Given the description of an element on the screen output the (x, y) to click on. 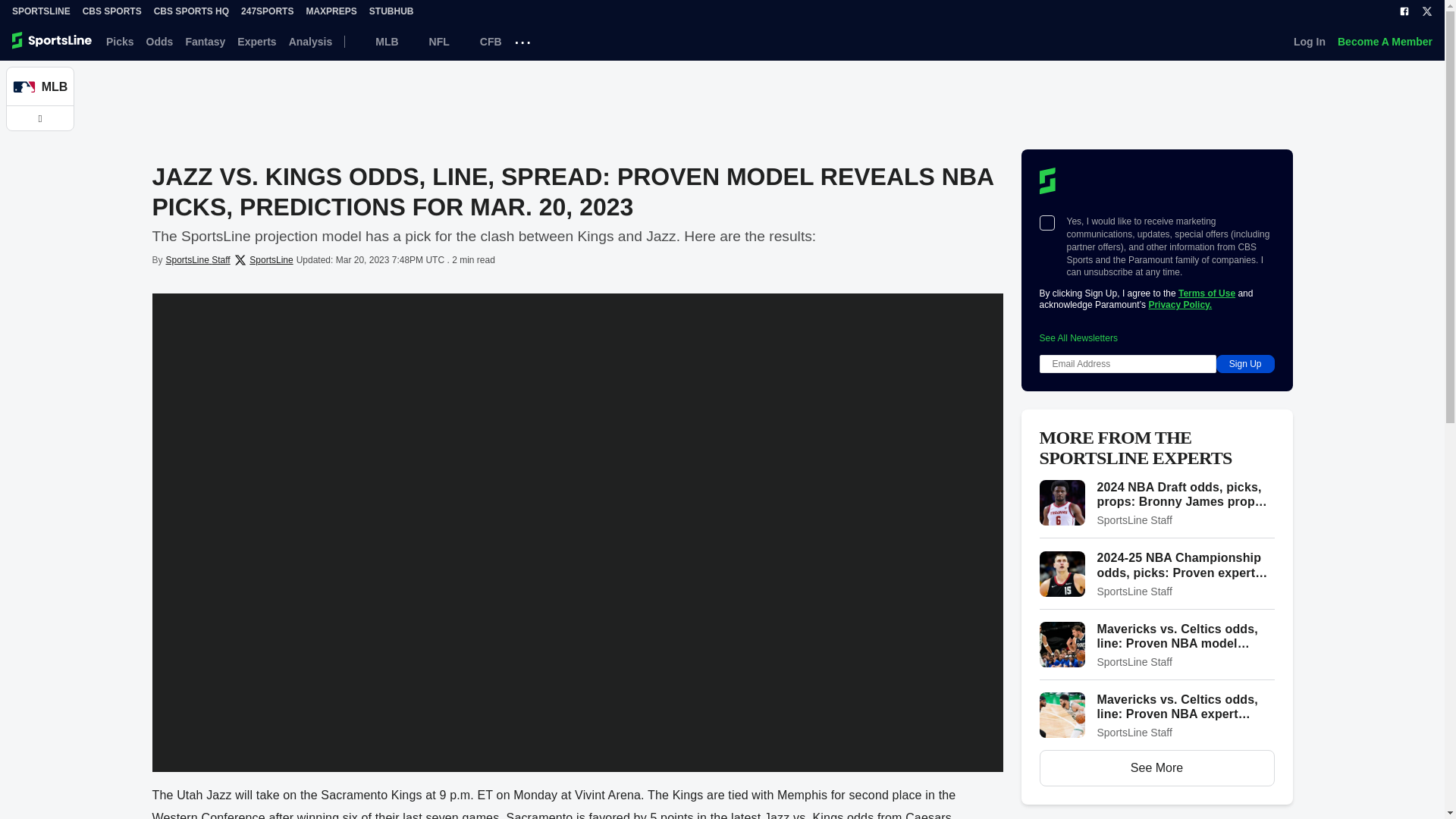
MAXPREPS (330, 11)
Experts (256, 41)
SportsLine (40, 11)
STUBHUB (391, 11)
CBS Sports (111, 11)
MaxPreps (330, 11)
SPORTSLINE (40, 11)
MLB (376, 41)
Fantasy (204, 41)
StubHub (391, 11)
247Sports (267, 11)
CBS Sports HQ (191, 11)
CFB (481, 41)
Analysis (310, 41)
NFL (429, 41)
